Given the description of an element on the screen output the (x, y) to click on. 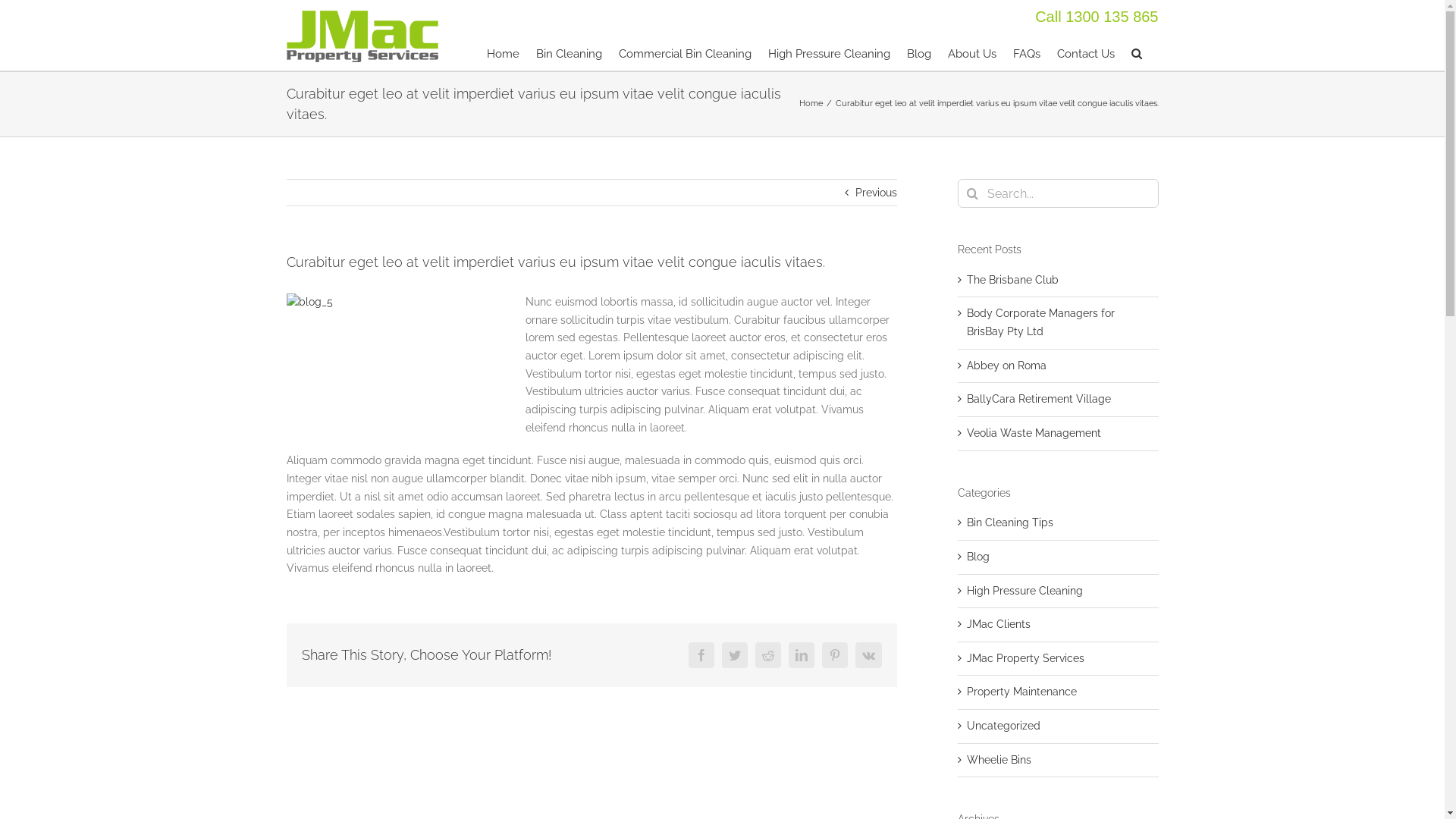
Vk Element type: text (868, 655)
JMac Property Services Element type: text (1058, 658)
JMac Clients Element type: text (1058, 624)
Commercial Bin Cleaning Element type: text (684, 52)
LinkedIn Element type: text (801, 655)
Home Element type: text (502, 52)
Contact Us Element type: text (1085, 52)
Search Element type: hover (1136, 52)
Reddit Element type: text (768, 655)
Facebook Element type: text (701, 655)
Abbey on Roma Element type: text (1006, 365)
Previous Element type: text (876, 192)
The Brisbane Club Element type: text (1012, 279)
Bin Cleaning Element type: text (568, 52)
About Us Element type: text (971, 52)
Wheelie Bins Element type: text (1058, 760)
BallyCara Retirement Village Element type: text (1038, 398)
Body Corporate Managers for BrisBay Pty Ltd Element type: text (1040, 322)
Home Element type: text (810, 103)
Veolia Waste Management Element type: text (1033, 432)
Uncategorized Element type: text (1058, 726)
Blog Element type: text (918, 52)
High Pressure Cleaning Element type: text (828, 52)
Twitter Element type: text (734, 655)
High Pressure Cleaning Element type: text (1058, 591)
FAQs Element type: text (1026, 52)
Call 1300 135 865 Element type: text (1096, 16)
Bin Cleaning Tips Element type: text (1058, 523)
Pinterest Element type: text (834, 655)
Blog Element type: text (1058, 557)
Property Maintenance Element type: text (1058, 692)
